Given the description of an element on the screen output the (x, y) to click on. 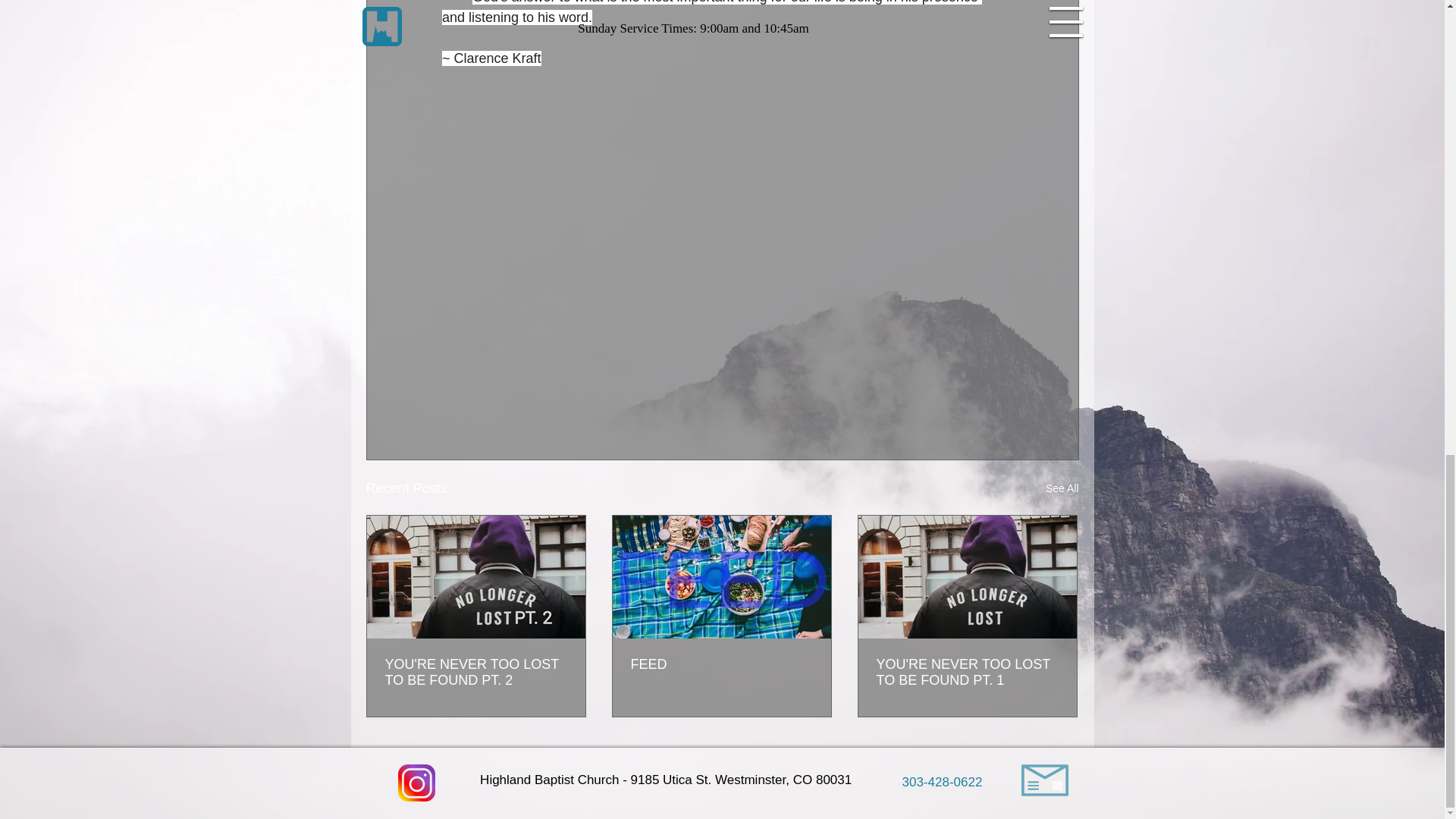
FEED (721, 664)
YOU'RE NEVER TOO LOST TO BE FOUND PT. 2 (476, 672)
See All (1061, 488)
YOU'RE NEVER TOO LOST TO BE FOUND PT. 1 (967, 672)
